Given the description of an element on the screen output the (x, y) to click on. 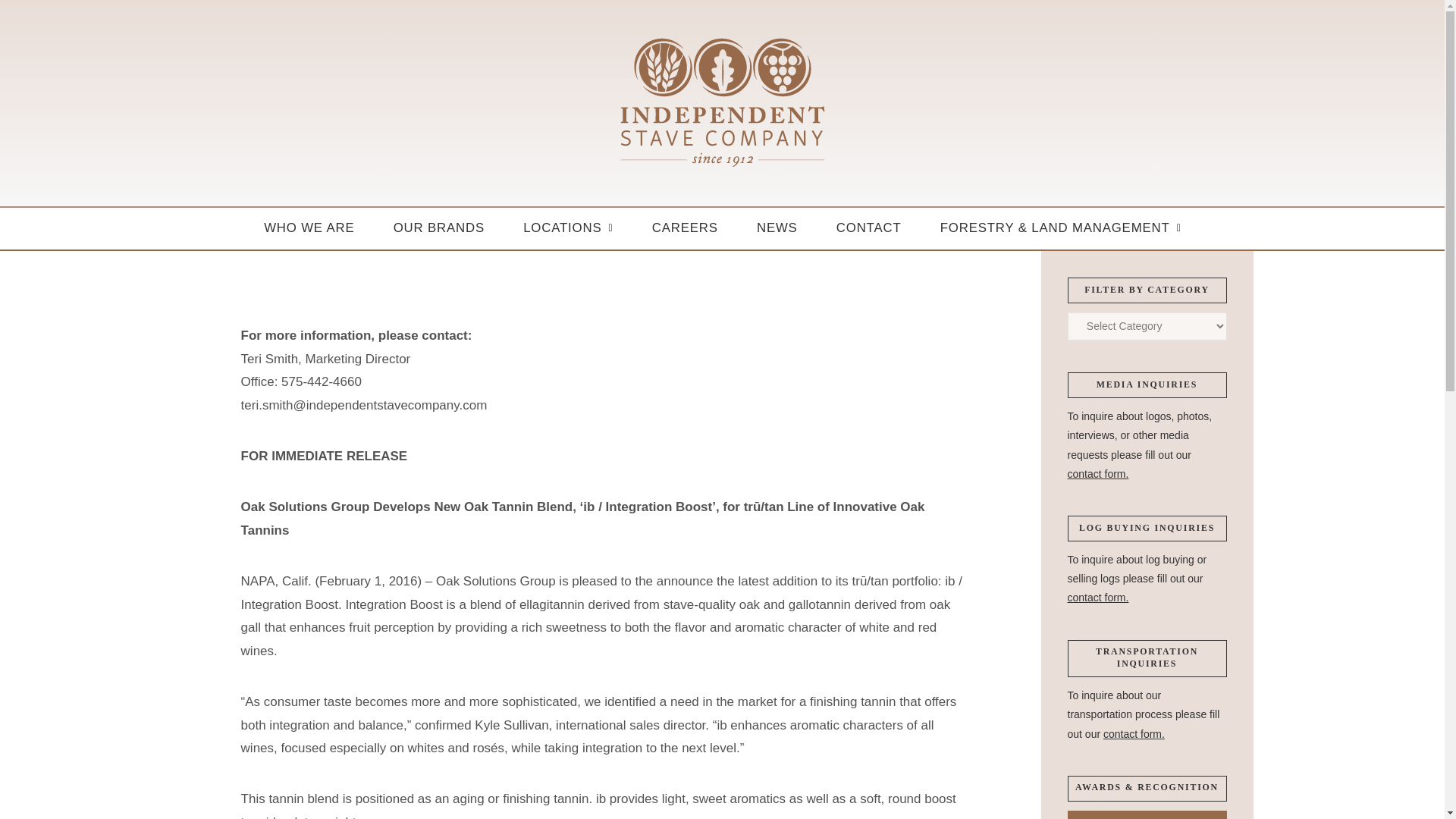
WHO WE ARE (309, 228)
CAREERS (683, 228)
OUR BRANDS (438, 228)
contact form. (1098, 473)
NEWS (776, 228)
contact form. (1098, 597)
contact form. (1133, 734)
LOCATIONS (567, 228)
CONTACT (868, 228)
